Given the description of an element on the screen output the (x, y) to click on. 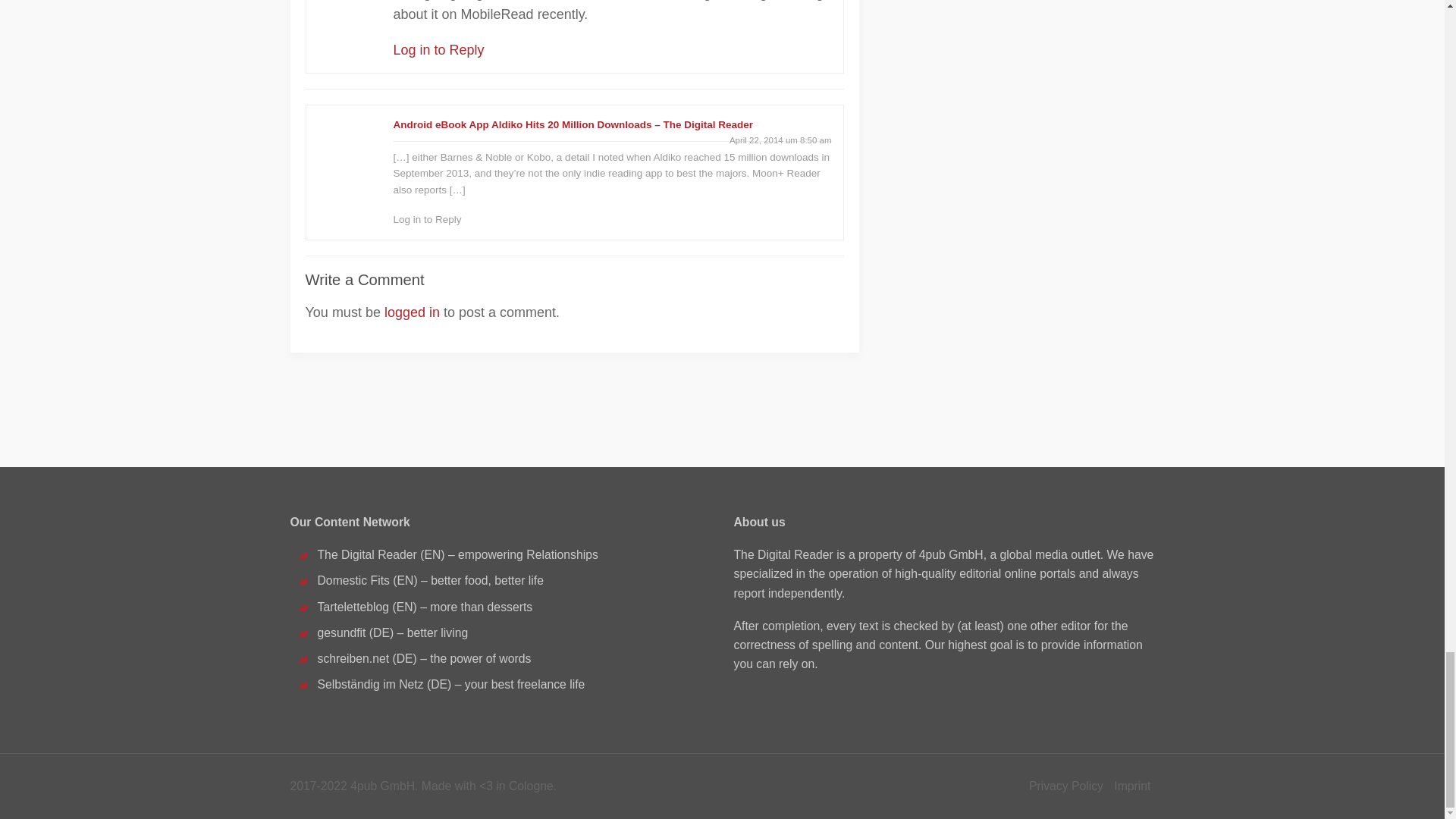
Log in to Reply (427, 219)
Log in to Reply (438, 49)
logged in (411, 312)
